Given the description of an element on the screen output the (x, y) to click on. 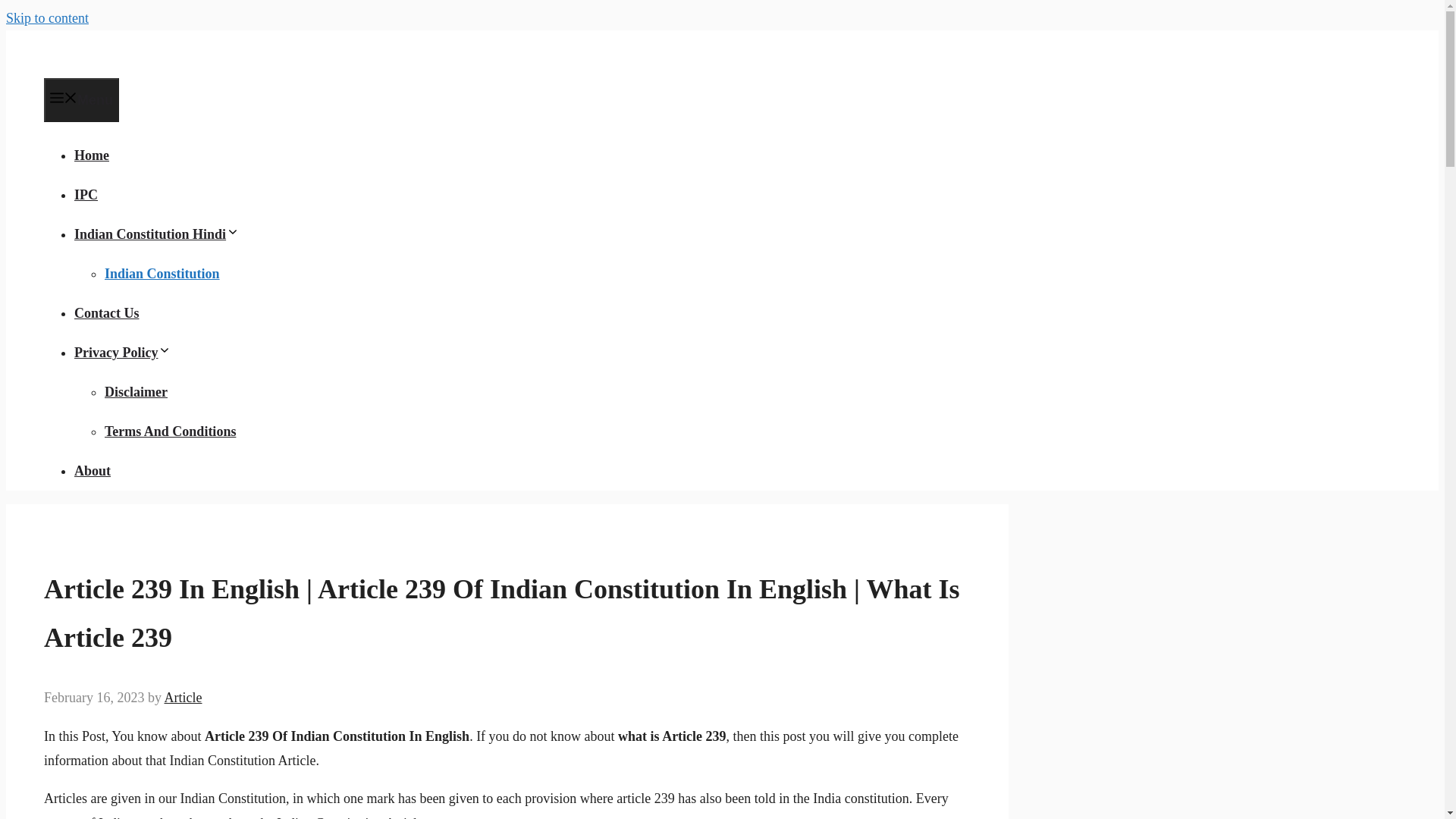
IPC (85, 194)
Indian Constitution Hindi (157, 233)
MY INDIAN CONSTITUTION (122, 64)
Menu (81, 99)
Privacy Policy (122, 352)
Terms And Conditions (169, 431)
Home (91, 155)
Disclaimer (135, 391)
About (92, 470)
View all posts by Article (182, 697)
Skip to content (46, 17)
Contact Us (106, 313)
Indian Constitution (161, 273)
MY INDIAN CONSTITUTION (122, 49)
Article (182, 697)
